Given the description of an element on the screen output the (x, y) to click on. 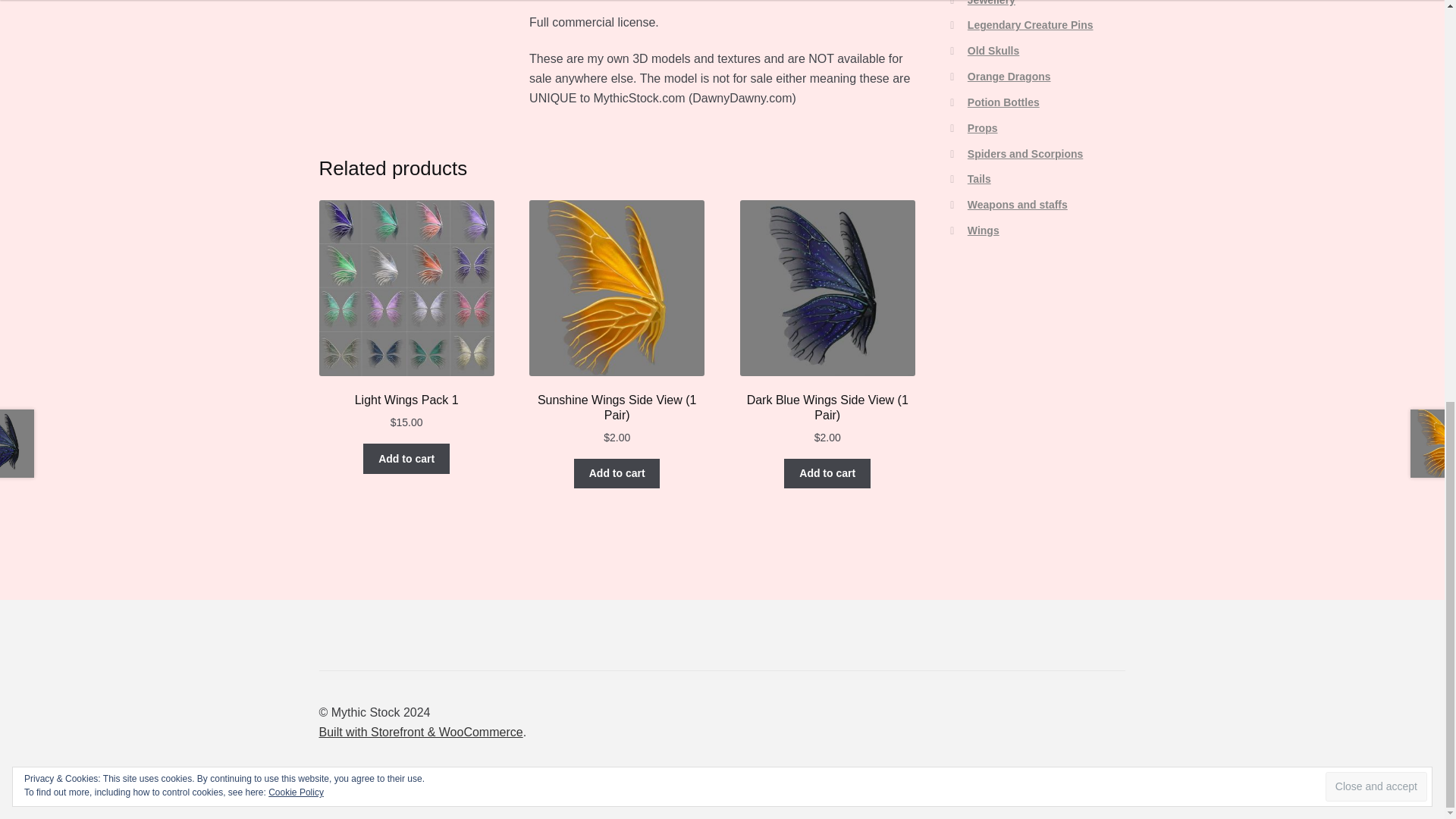
Add to cart (405, 458)
Add to cart (617, 472)
WooCommerce - The Best eCommerce Platform for WordPress (420, 731)
Close and accept (1375, 7)
Add to cart (827, 472)
